Given the description of an element on the screen output the (x, y) to click on. 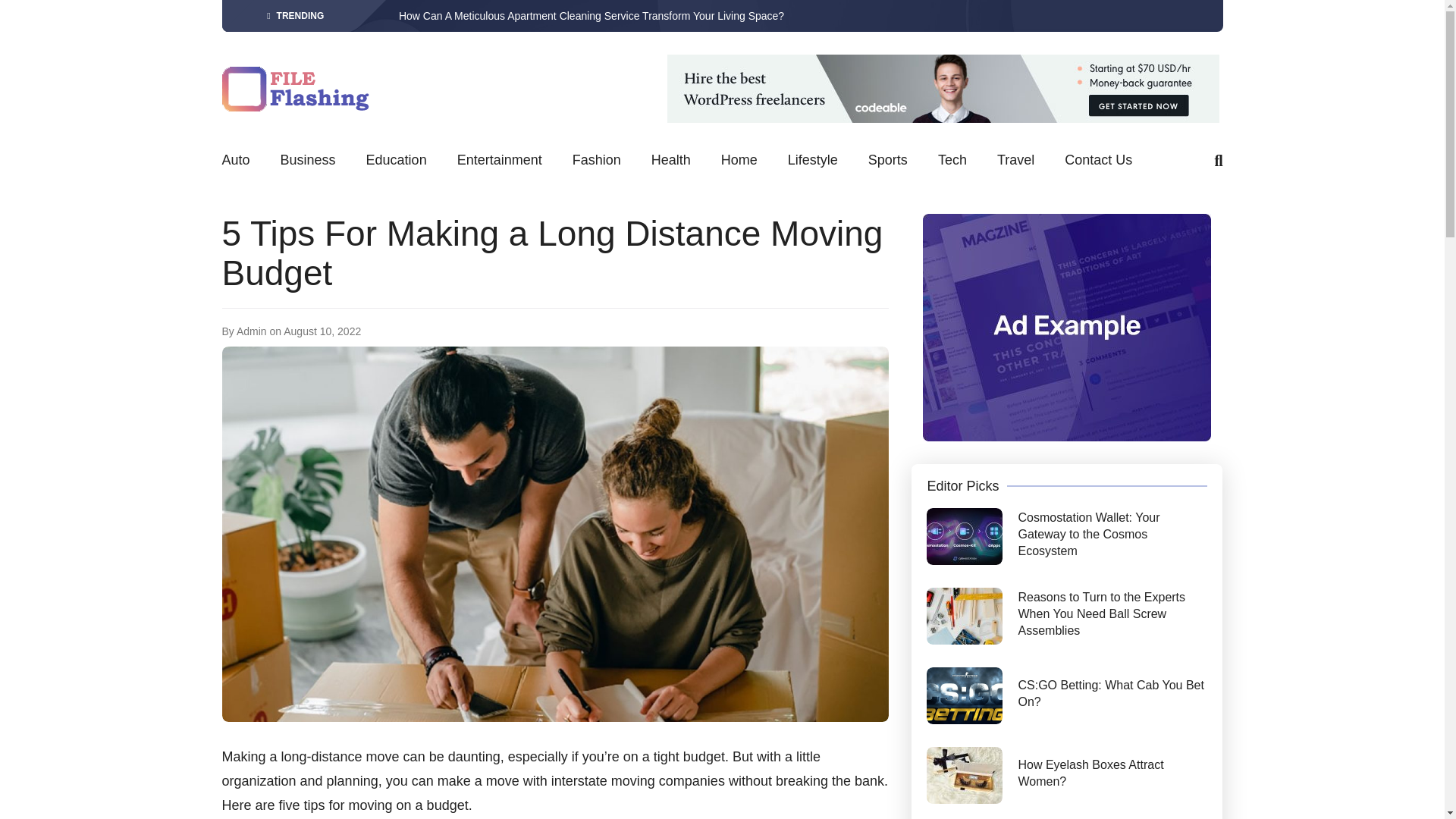
Sports (887, 160)
Fashion (596, 160)
Business (308, 160)
Home (738, 160)
Lifestyle (812, 160)
Education (396, 160)
Travel (1015, 160)
Entertainment (499, 160)
Tech (951, 160)
Auto (234, 160)
